Given the description of an element on the screen output the (x, y) to click on. 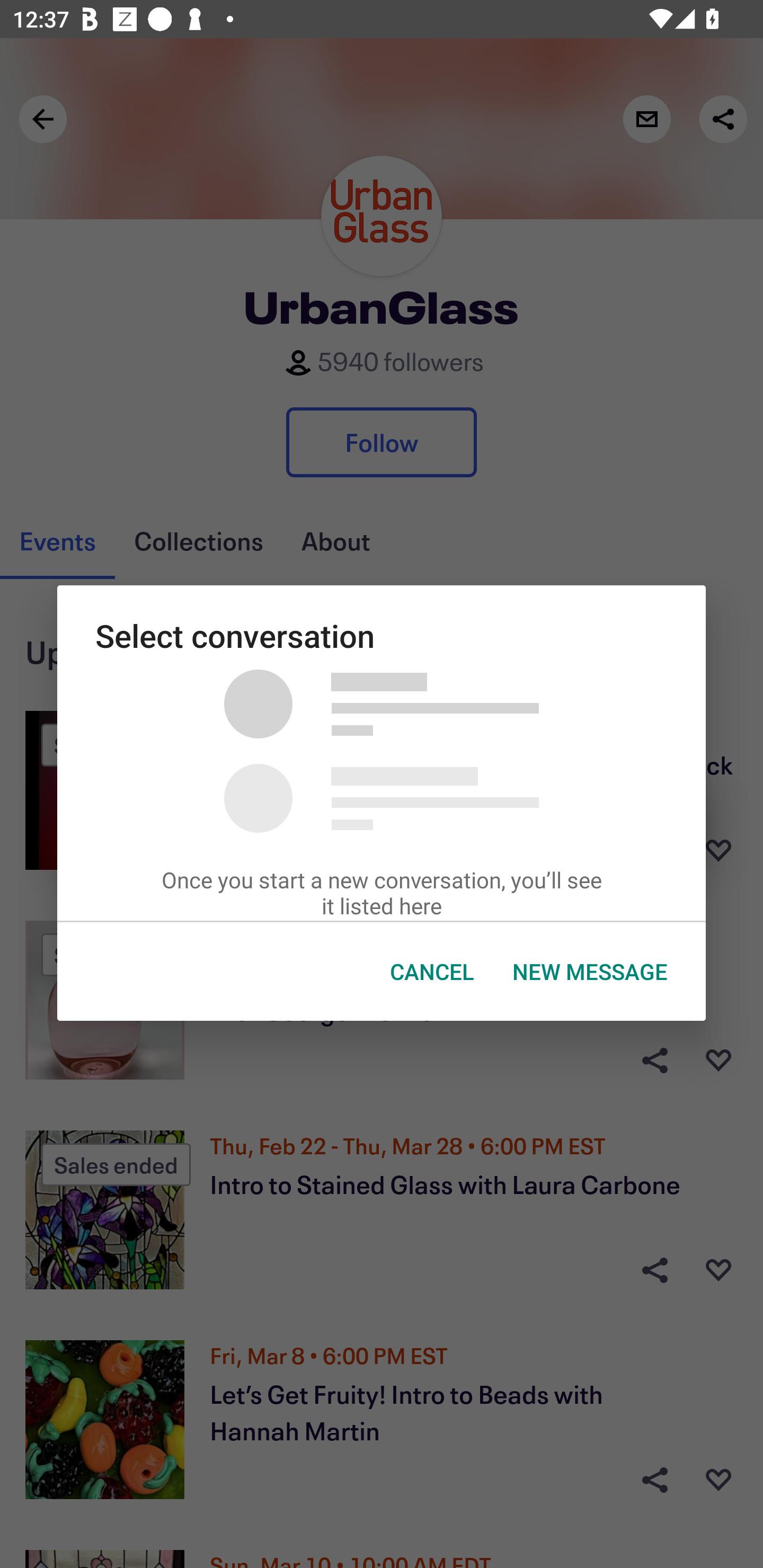
CANCEL (431, 971)
NEW MESSAGE (589, 971)
